Given the description of an element on the screen output the (x, y) to click on. 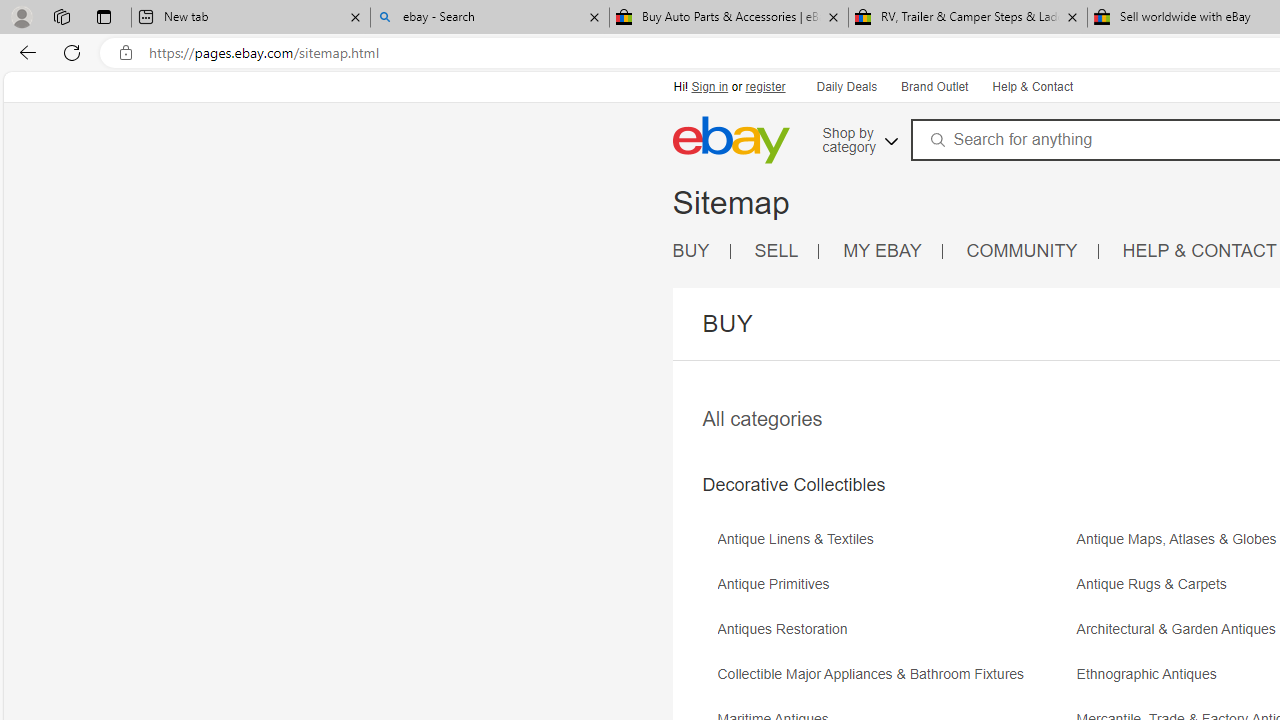
BUY (691, 250)
Brand Outlet (934, 88)
HELP & CONTACT (1199, 250)
Collectible Major Appliances & Bathroom Fixtures (875, 673)
MY EBAY (893, 251)
COMMUNITY (1032, 251)
Decorative Collectibles (793, 485)
eBay Logo (797, 169)
HELP & CONTACT (1199, 251)
Antique Linens & Textiles (800, 539)
